Given the description of an element on the screen output the (x, y) to click on. 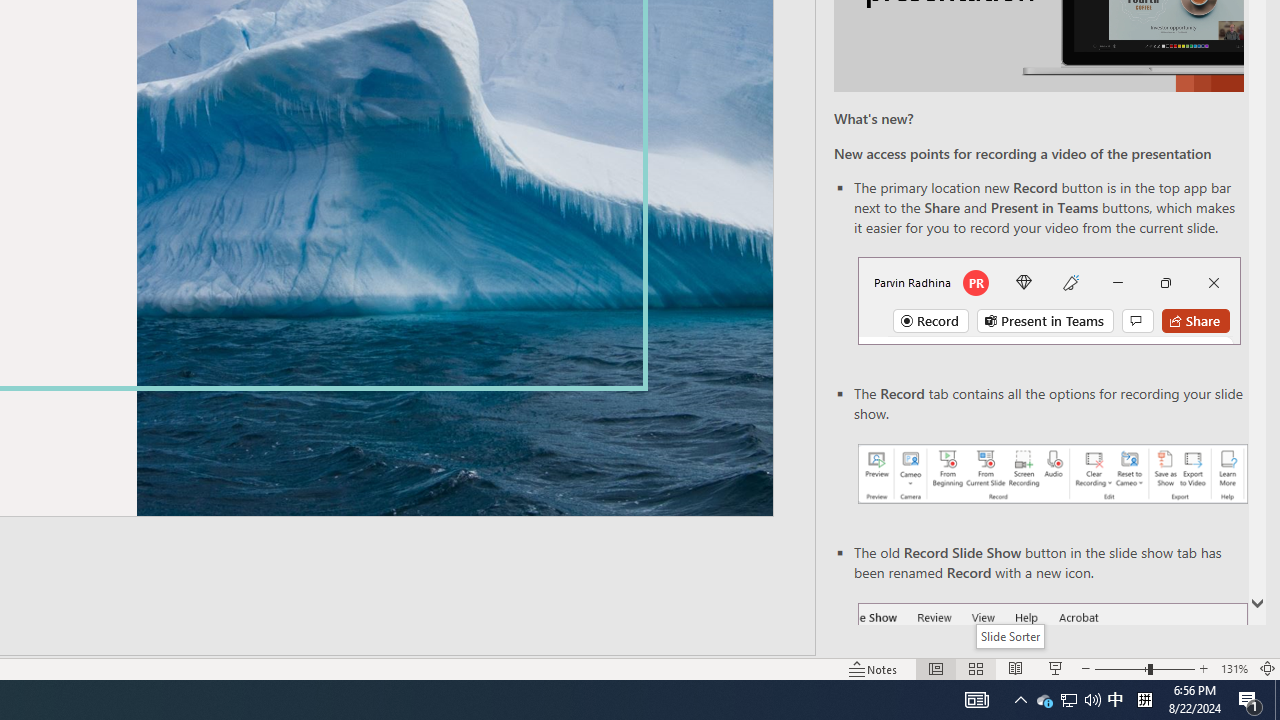
Record button in top bar (1049, 300)
Zoom 131% (1234, 668)
Record your presentations screenshot one (1052, 473)
